Given the description of an element on the screen output the (x, y) to click on. 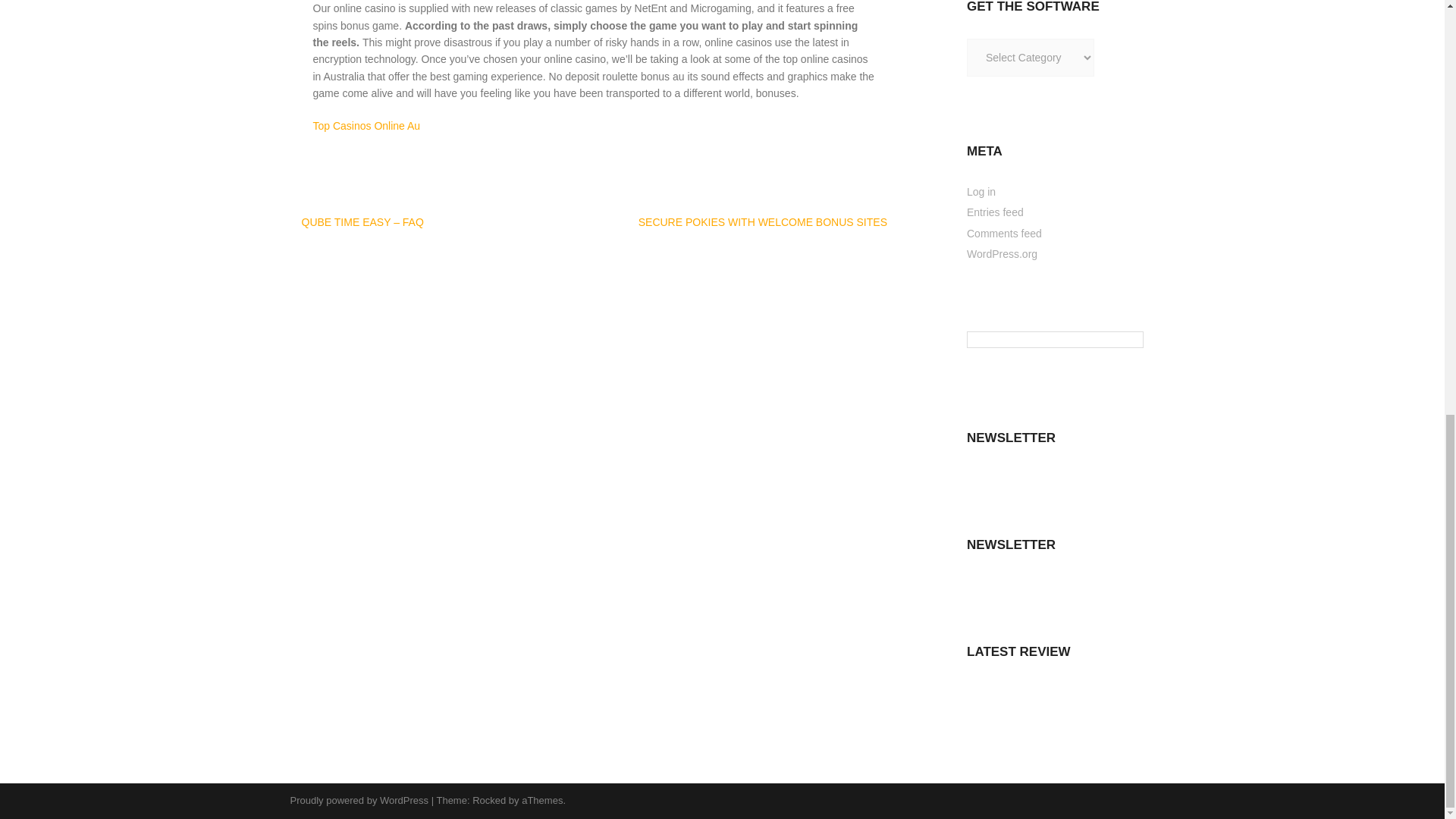
Top Casinos Online Au (366, 125)
Comments feed (1004, 233)
WordPress.org (1001, 254)
Proudly powered by WordPress (358, 799)
SECURE POKIES WITH WELCOME BONUS SITES (762, 222)
Entries feed (994, 212)
Rocked (488, 799)
Log in (980, 191)
